Given the description of an element on the screen output the (x, y) to click on. 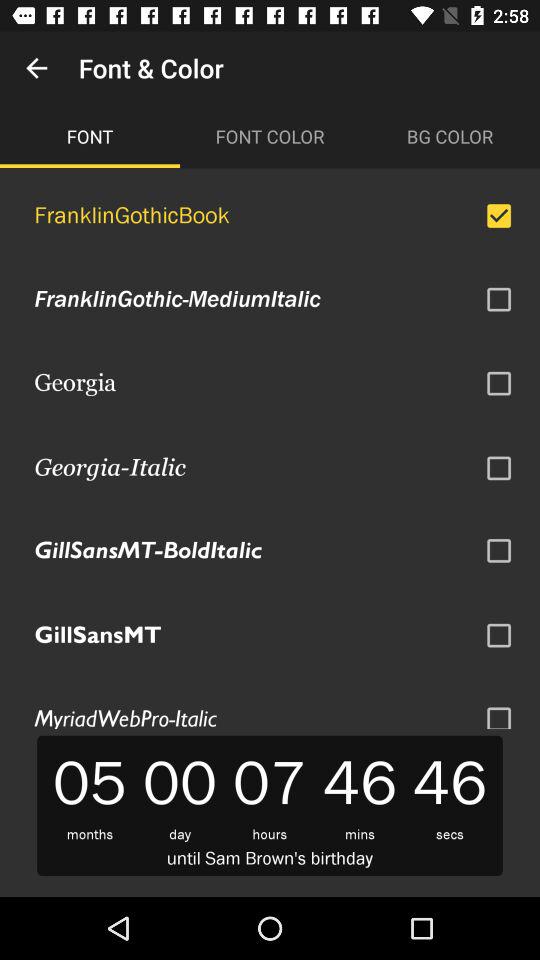
choose the item above the franklingothicbook (450, 136)
